Given the description of an element on the screen output the (x, y) to click on. 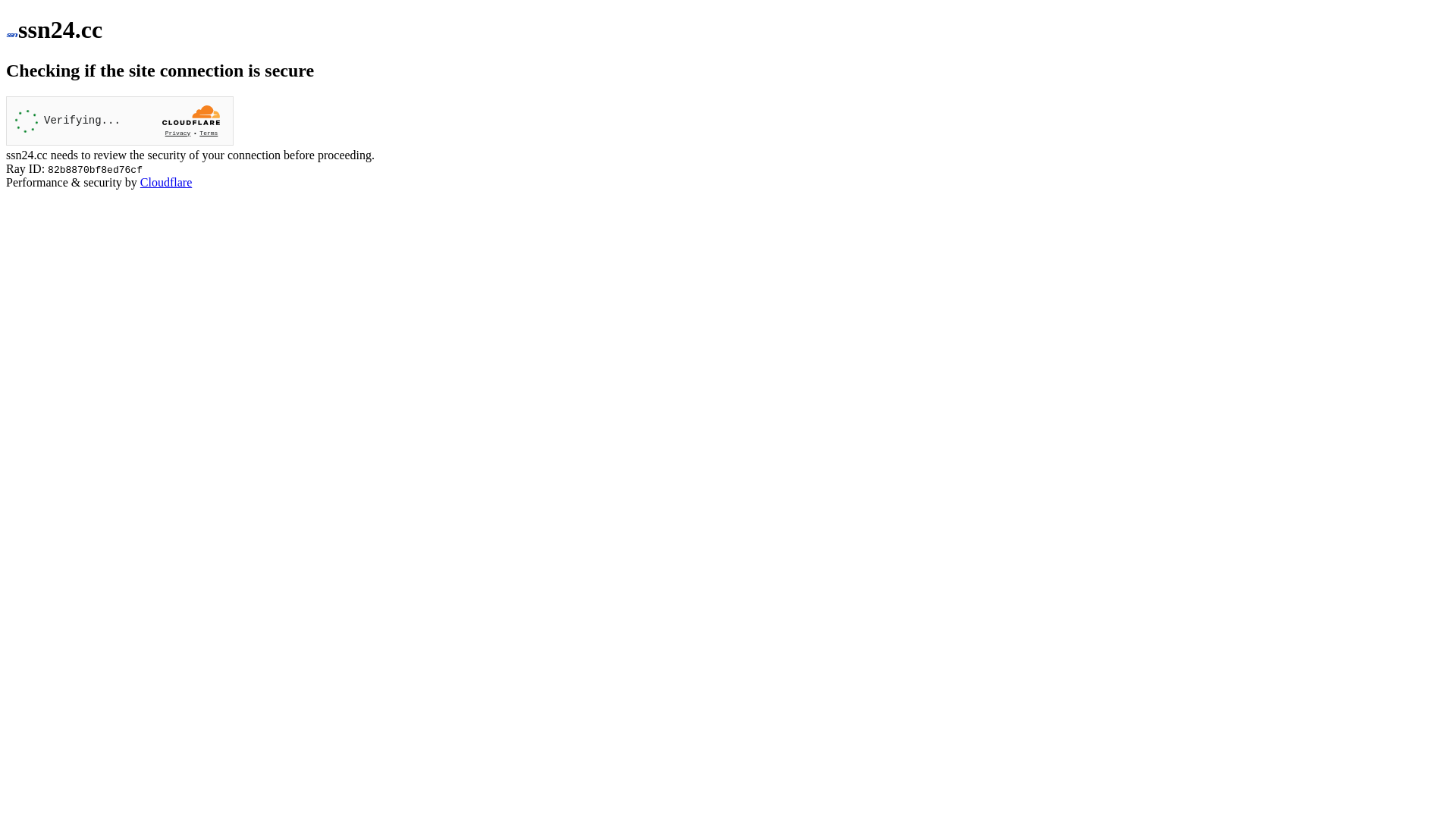
Widget containing a Cloudflare security challenge Element type: hover (119, 120)
Cloudflare Element type: text (165, 181)
